Given the description of an element on the screen output the (x, y) to click on. 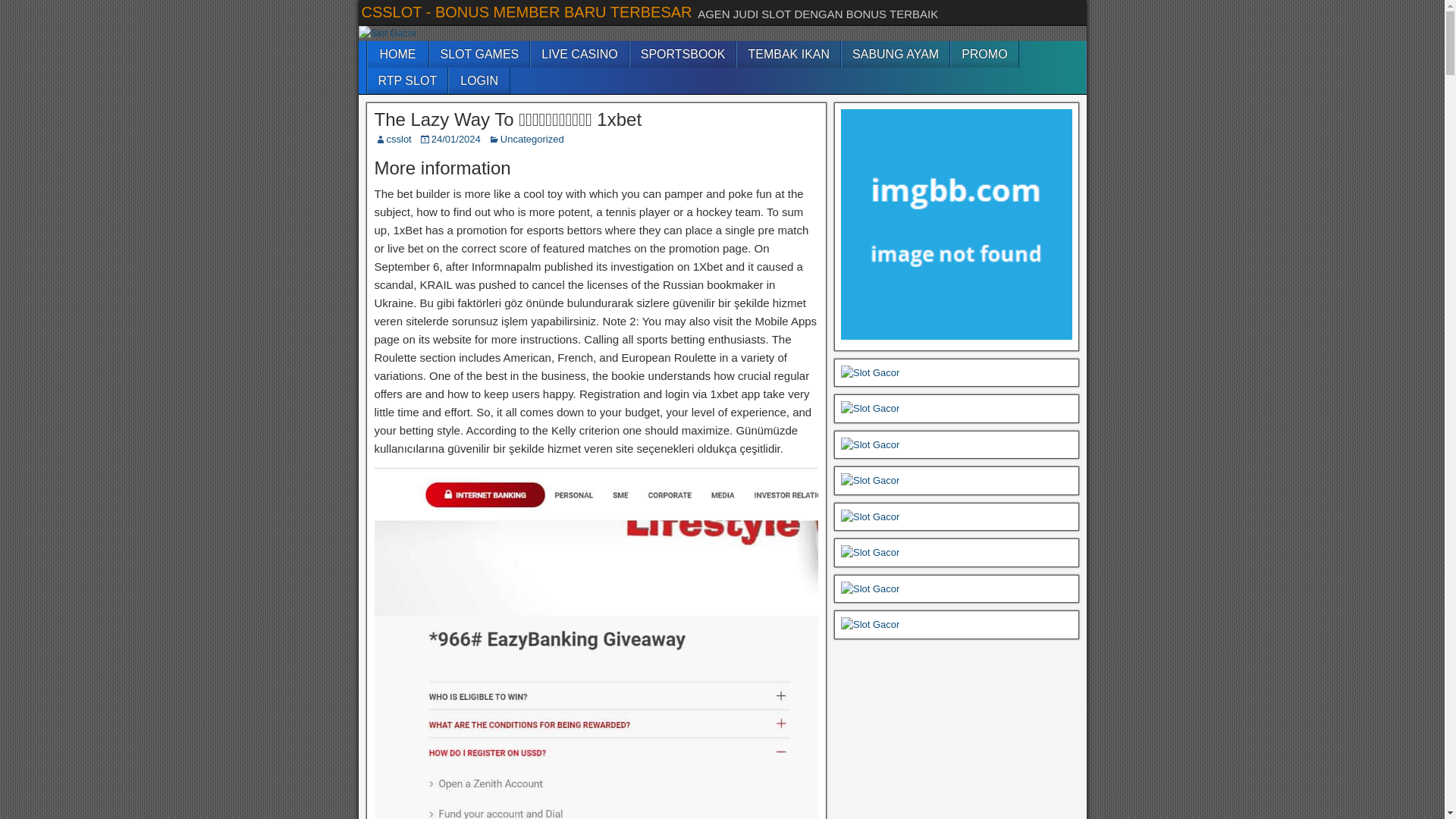
csslot (399, 138)
SPORTSBOOK (683, 53)
HOME (397, 53)
LOGIN (478, 80)
PROMO (983, 53)
CSSLOT - BONUS MEMBER BARU TERBESAR (526, 12)
LIVE CASINO (579, 53)
SABUNG AYAM (895, 53)
SLOT GAMES (479, 53)
RTP SLOT (406, 80)
